Given the description of an element on the screen output the (x, y) to click on. 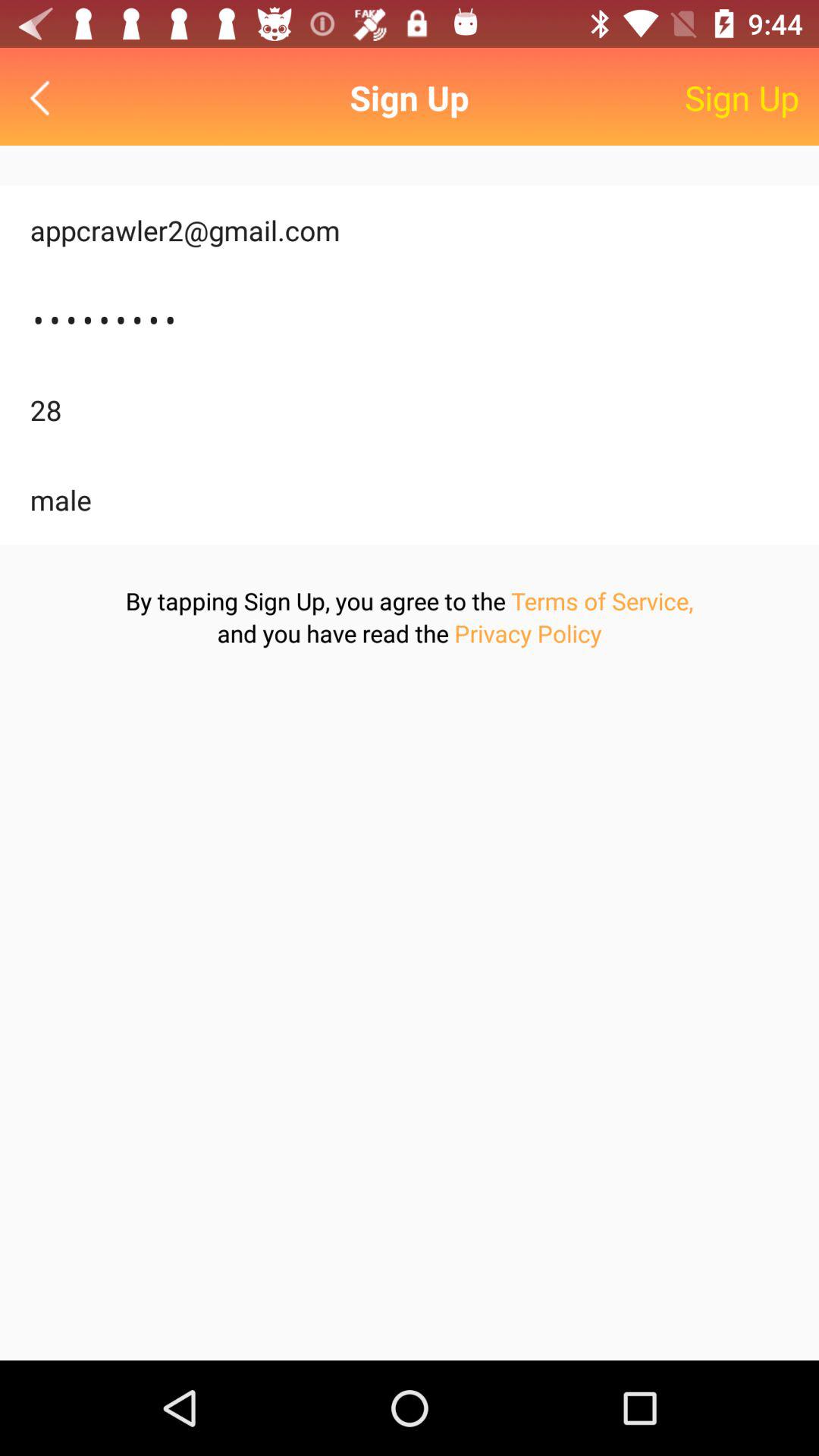
select appcrawler2@gmail.com icon (409, 230)
